Given the description of an element on the screen output the (x, y) to click on. 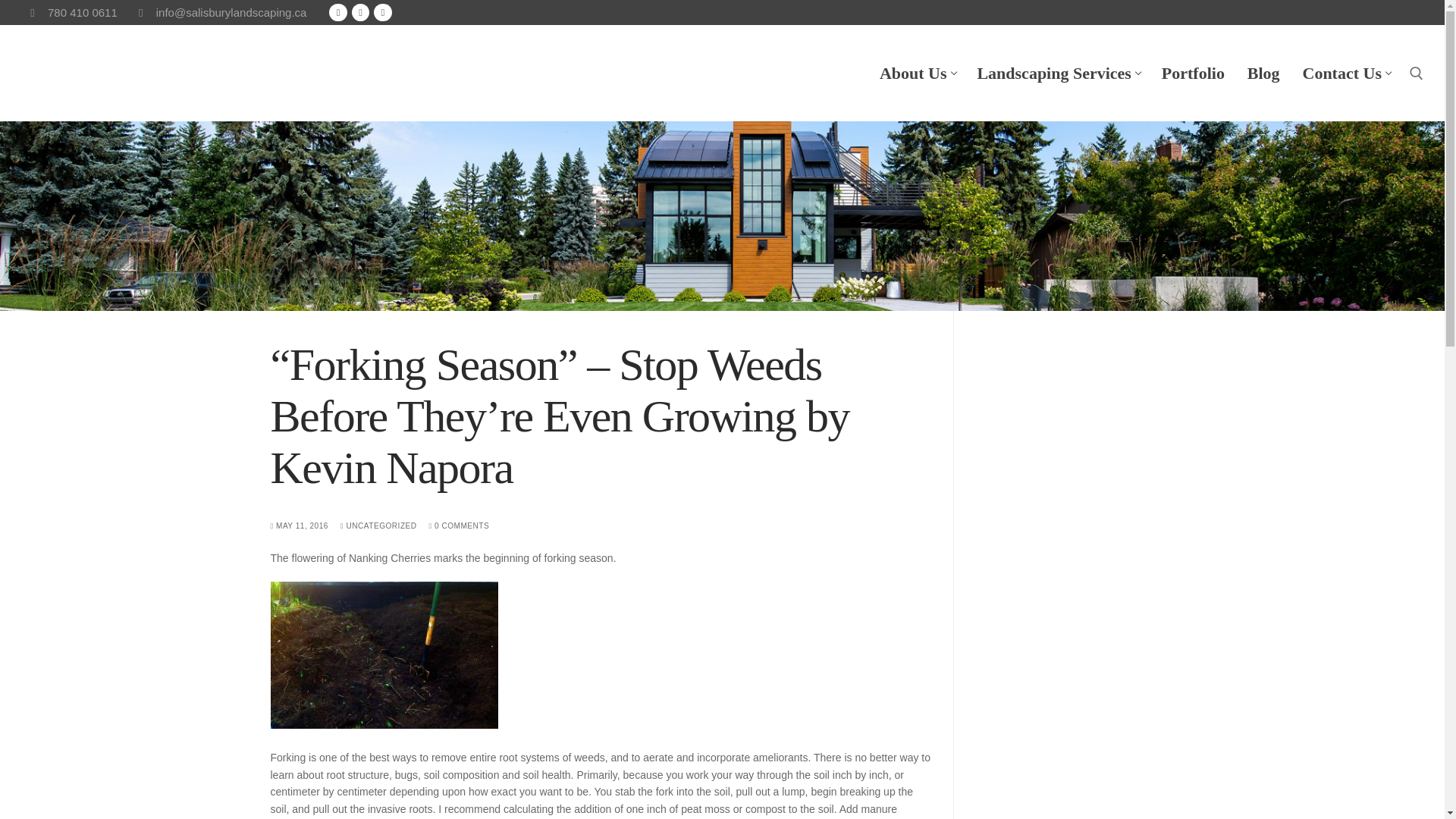
Blog (1057, 73)
Instagram (1263, 73)
Portfolio (360, 12)
780 410 0611 (1192, 73)
Facebook (916, 73)
UNCATEGORIZED (69, 12)
Youtube (338, 12)
